Given the description of an element on the screen output the (x, y) to click on. 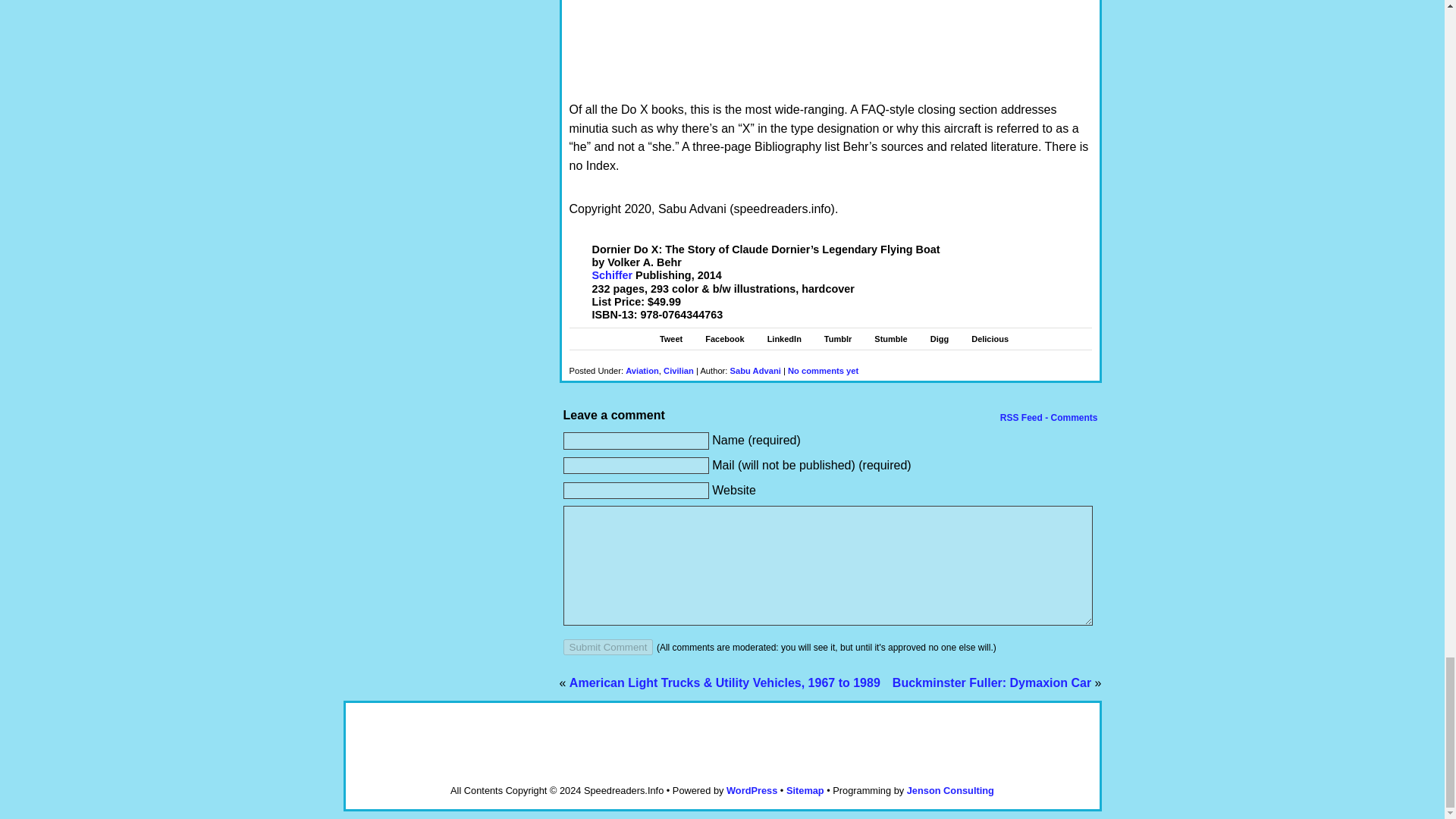
Facebook (724, 338)
RSS Feed - Comments (1047, 417)
Aviation (642, 370)
No comments yet (823, 370)
Civilian (678, 370)
Sabu Advani (755, 370)
Share on StumbleUpon (891, 338)
Schiffer (611, 275)
Tumblr (837, 338)
Share on Facebook (724, 338)
